Given the description of an element on the screen output the (x, y) to click on. 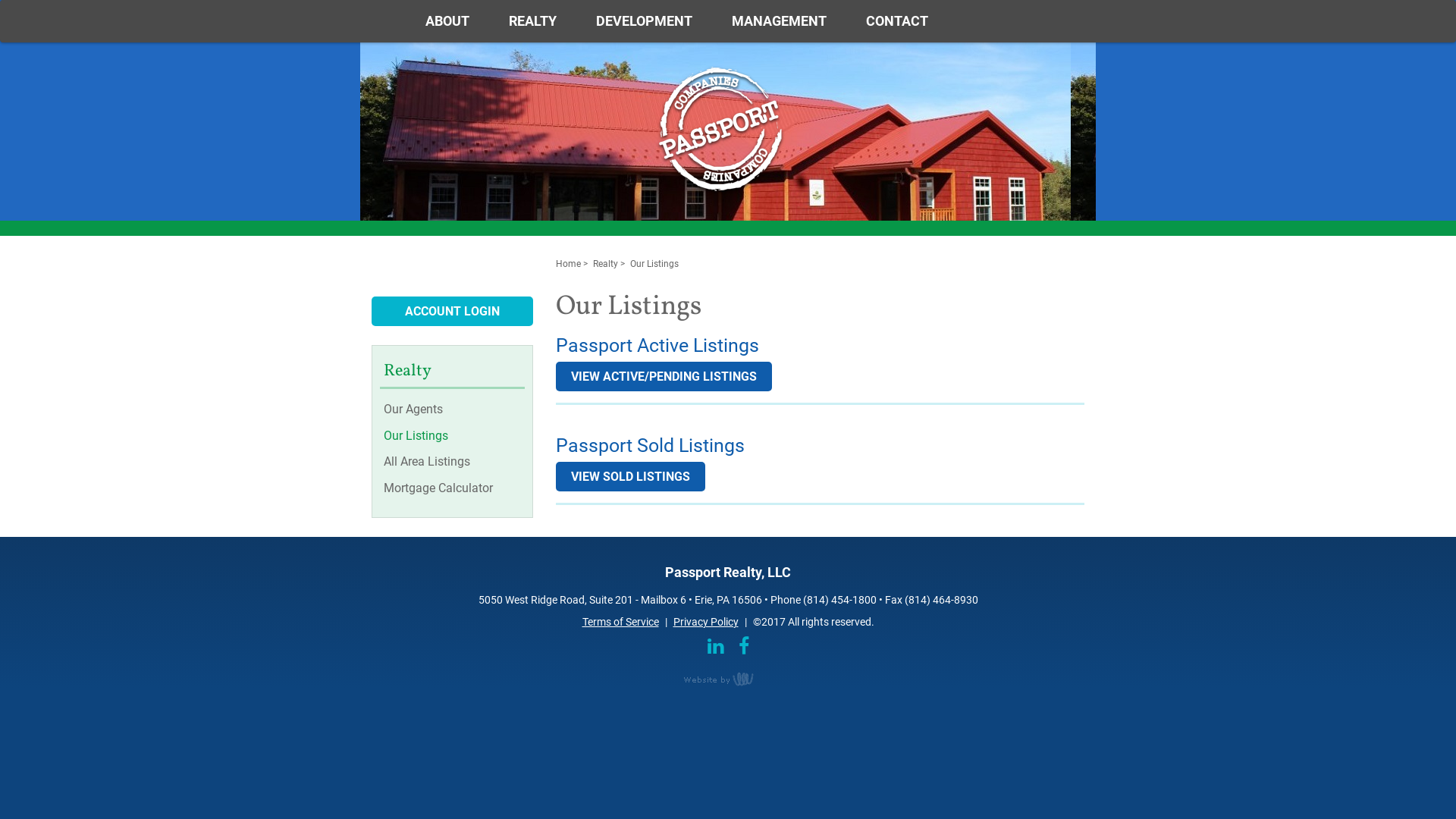
DEVELOPMENT Element type: text (643, 21)
ABOUT Element type: text (447, 21)
Our Agents Element type: text (453, 409)
Terms of Service Element type: text (620, 621)
Our Listings Element type: text (453, 436)
Realty Element type: text (605, 263)
All Area Listings Element type: text (453, 461)
Privacy Policy Element type: text (705, 621)
CONTACT Element type: text (896, 21)
Home Element type: text (567, 263)
VIEW SOLD LISTINGS Element type: text (629, 476)
VIEW ACTIVE/PENDING LISTINGS Element type: text (663, 376)
ACCOUNT LOGIN Element type: text (452, 311)
REALTY Element type: text (532, 21)
Mortgage Calculator Element type: text (453, 488)
MANAGEMENT Element type: text (778, 21)
